Given the description of an element on the screen output the (x, y) to click on. 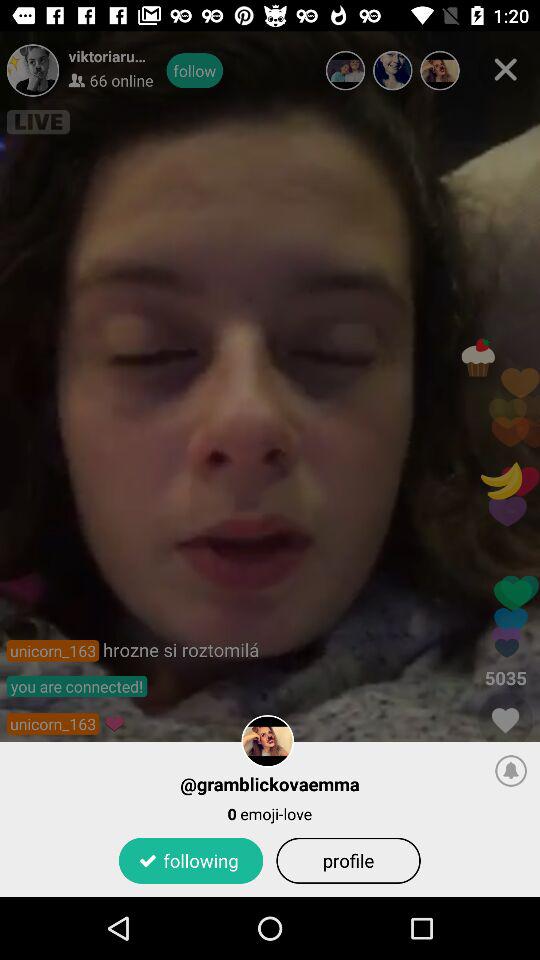
launch app below the 0 emoji-love (348, 860)
